Given the description of an element on the screen output the (x, y) to click on. 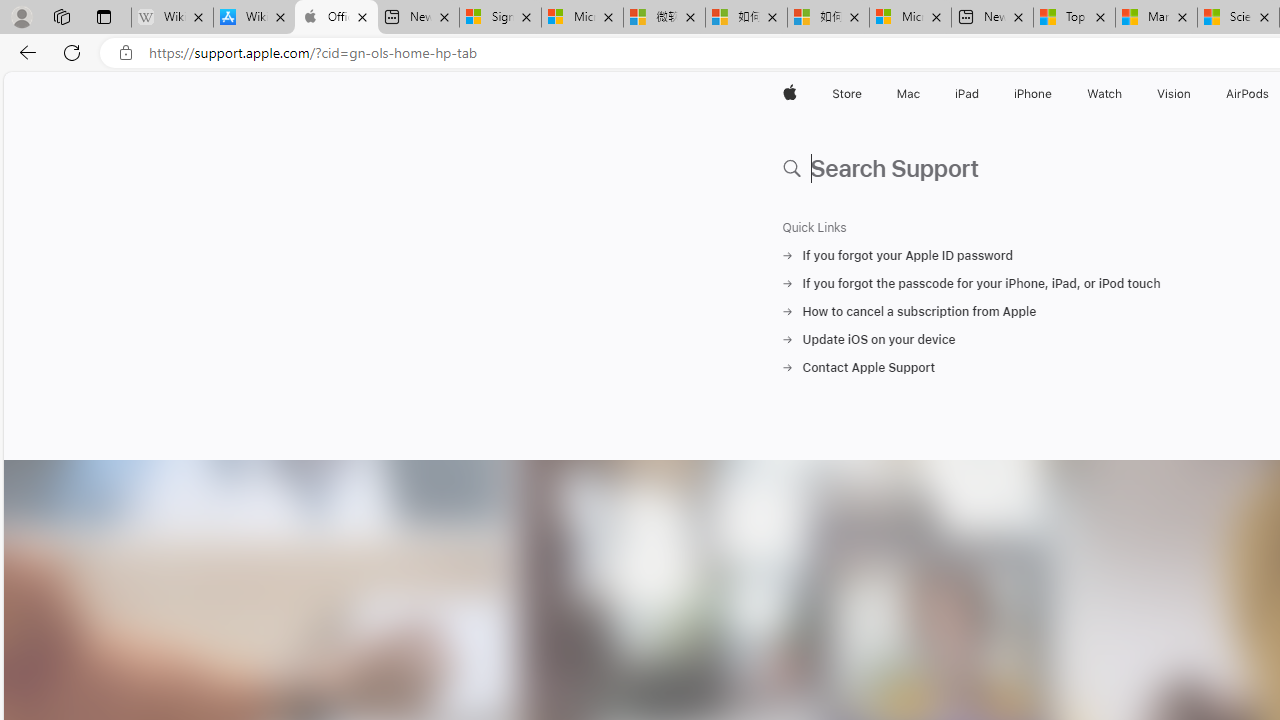
Vision (1174, 93)
Microsoft account | Account Checkup (910, 17)
Vision (1174, 93)
Store (846, 93)
iPhone (1033, 93)
Store menu (864, 93)
Class: globalnav-submenu-trigger-item (1195, 93)
Official Apple Support (336, 17)
AirPods (1247, 93)
Store (846, 93)
